Given the description of an element on the screen output the (x, y) to click on. 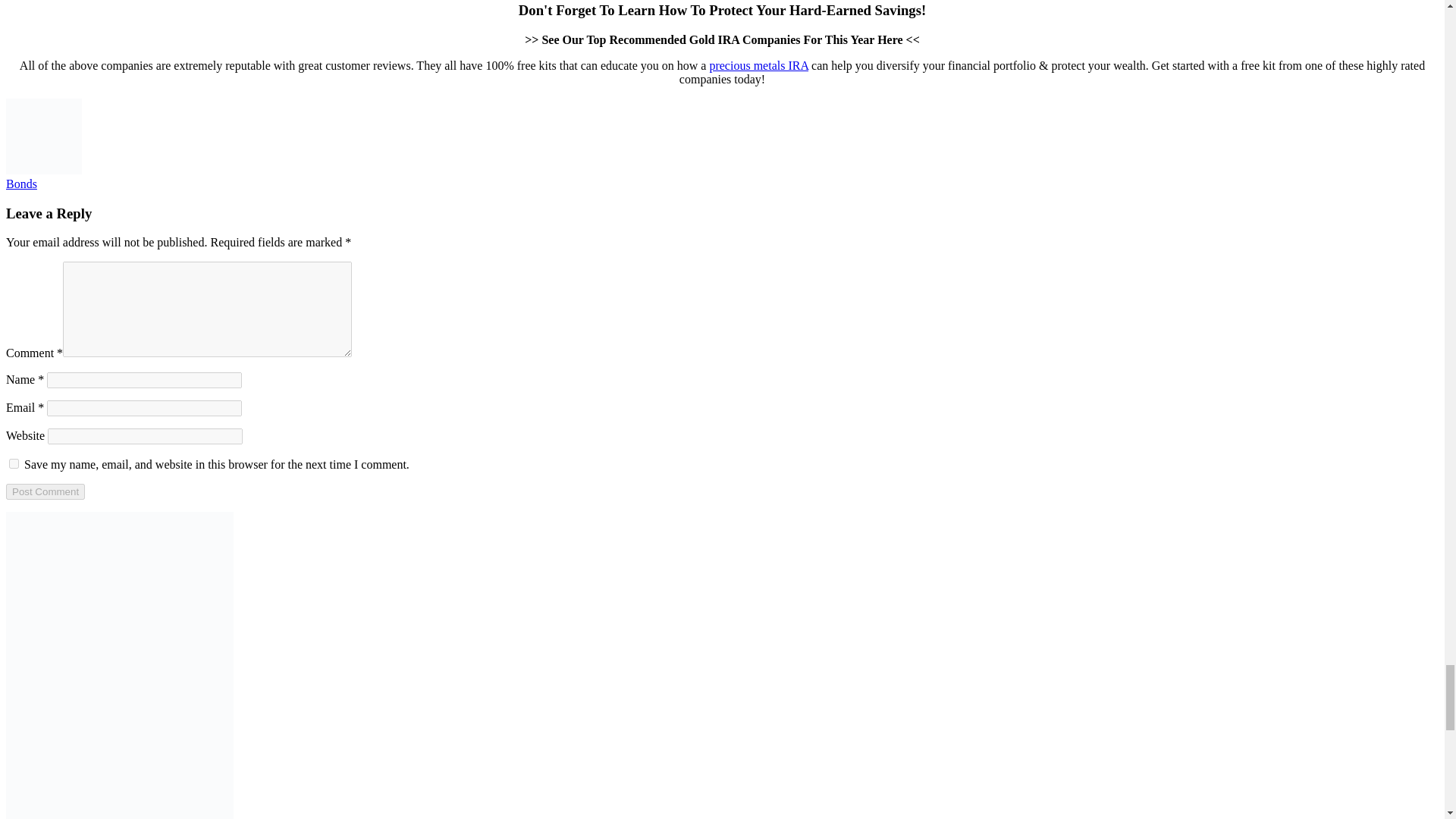
yes (13, 463)
Post Comment (44, 491)
